Given the description of an element on the screen output the (x, y) to click on. 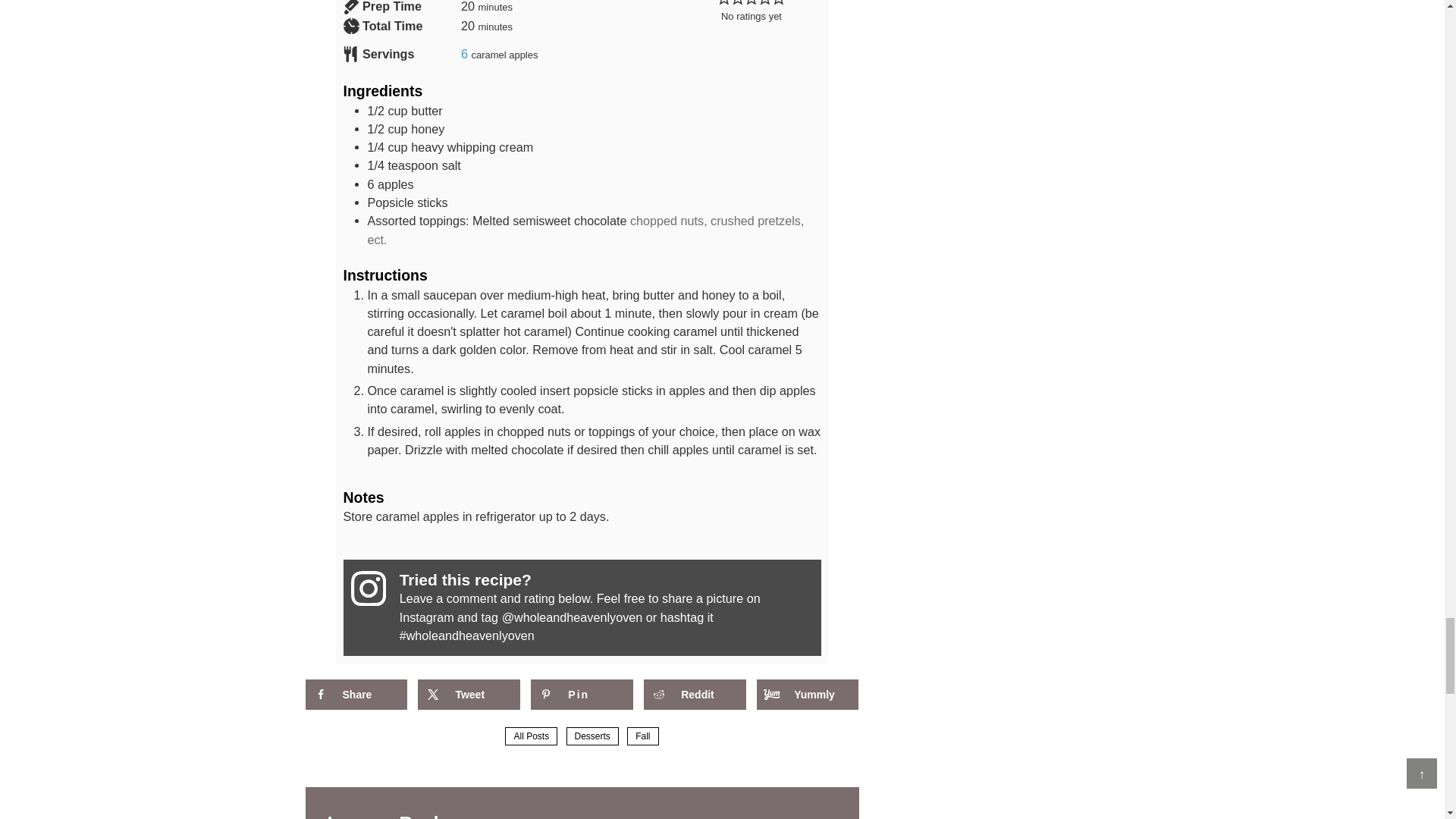
Share on Facebook (355, 694)
Share on Yummly (808, 694)
Save to Pinterest (581, 694)
Share on Reddit (694, 694)
Share on X (468, 694)
